Given the description of an element on the screen output the (x, y) to click on. 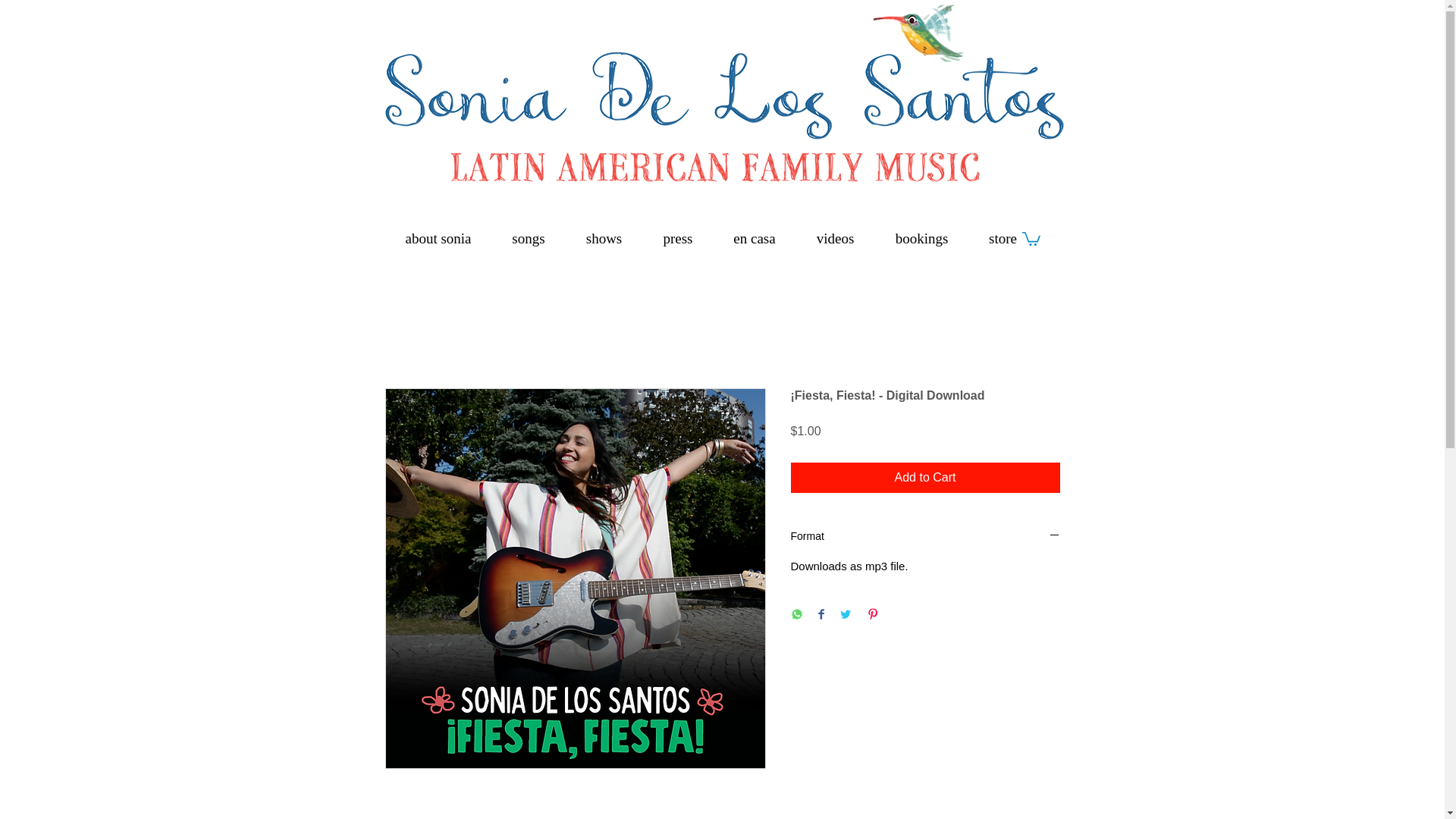
en casa (753, 238)
shows (604, 238)
Format (924, 537)
songs (528, 238)
about sonia (438, 238)
bookings (922, 238)
Add to Cart (924, 477)
store (1002, 238)
press (678, 238)
videos (835, 238)
